Given the description of an element on the screen output the (x, y) to click on. 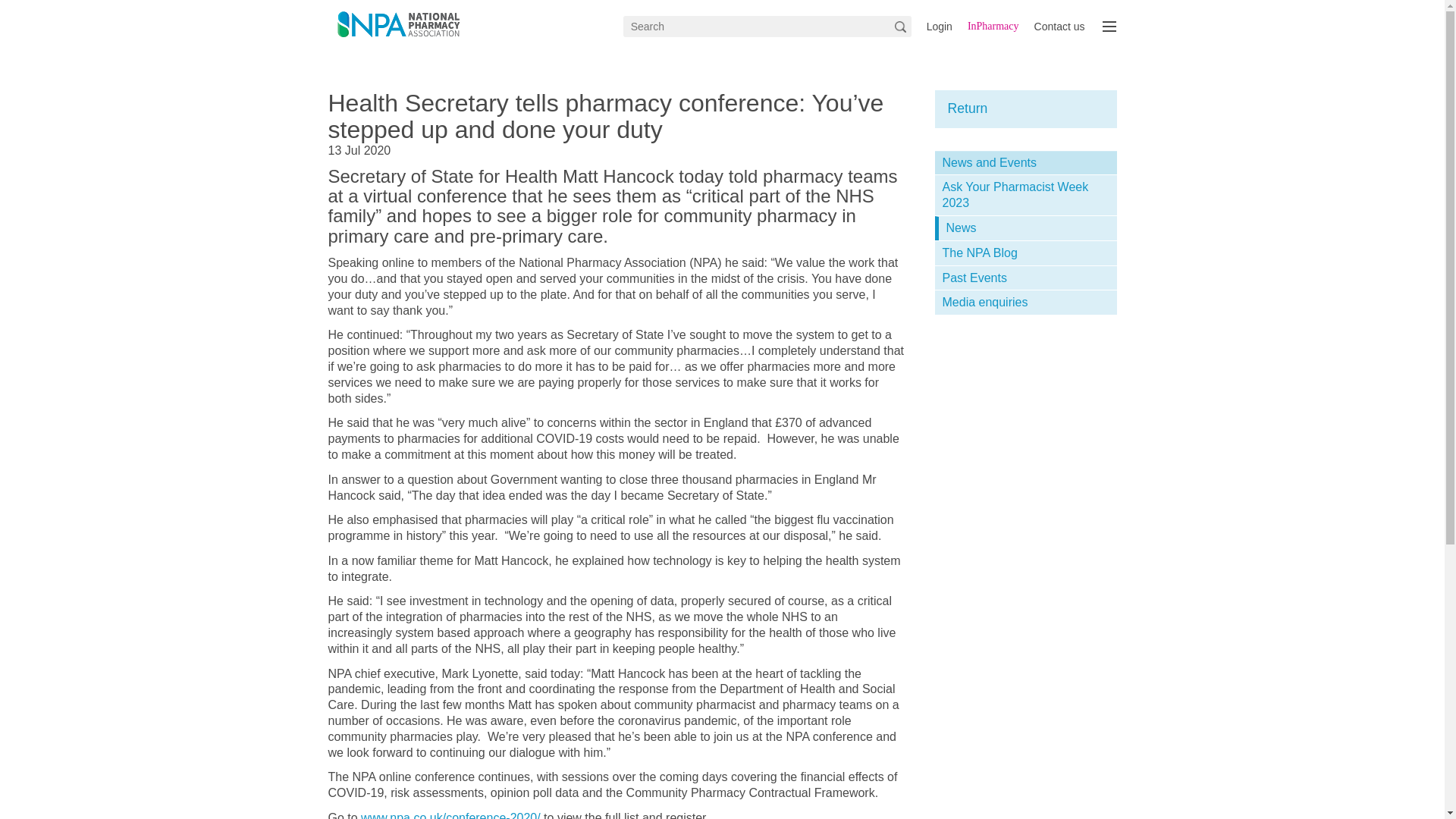
Contact us (1058, 26)
Login (939, 26)
InPharmacy (993, 26)
Ask Your Pharmacist Week 2023 (1025, 195)
Past Events (1025, 278)
Media enquiries (1025, 302)
Log in (939, 26)
News and Events (1025, 163)
InPharmacy (993, 26)
The NPA Blog (1025, 253)
News (1027, 228)
Contact Us (1058, 26)
Return (967, 108)
